Given the description of an element on the screen output the (x, y) to click on. 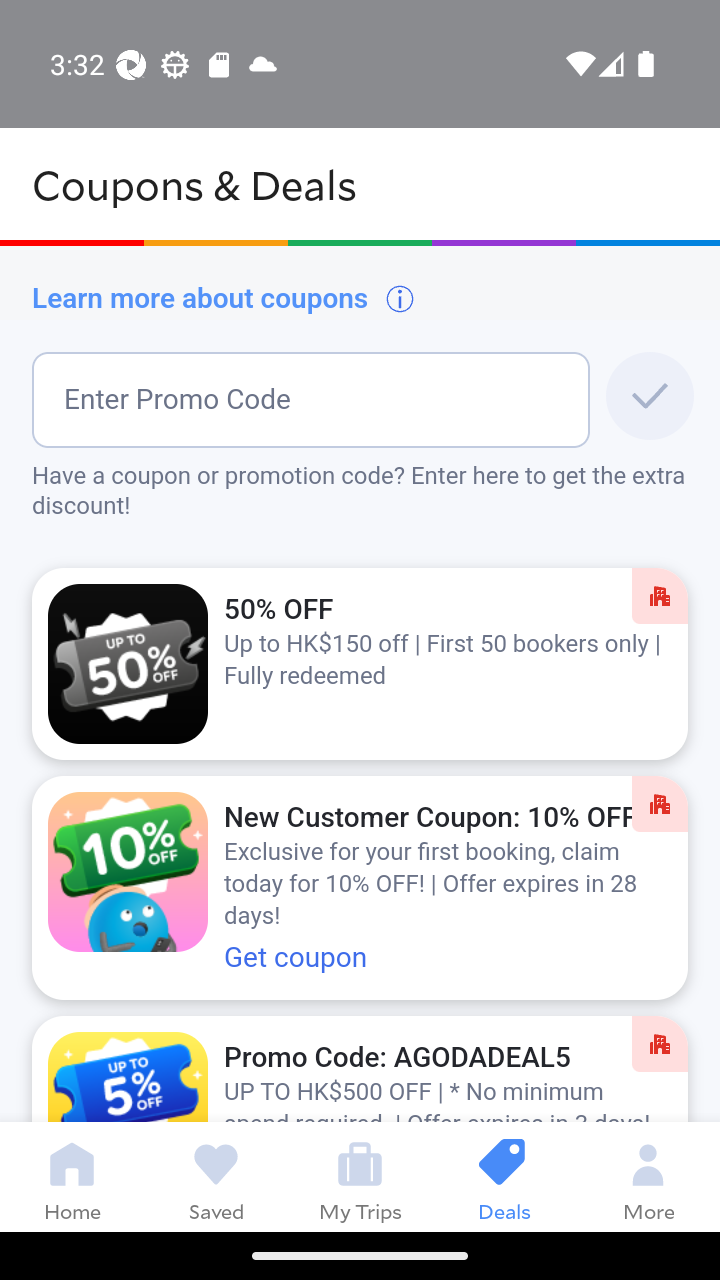
Learn more about coupons (224, 298)
Home (72, 1176)
Saved (216, 1176)
My Trips (360, 1176)
Deals (504, 1176)
More (648, 1176)
